Given the description of an element on the screen output the (x, y) to click on. 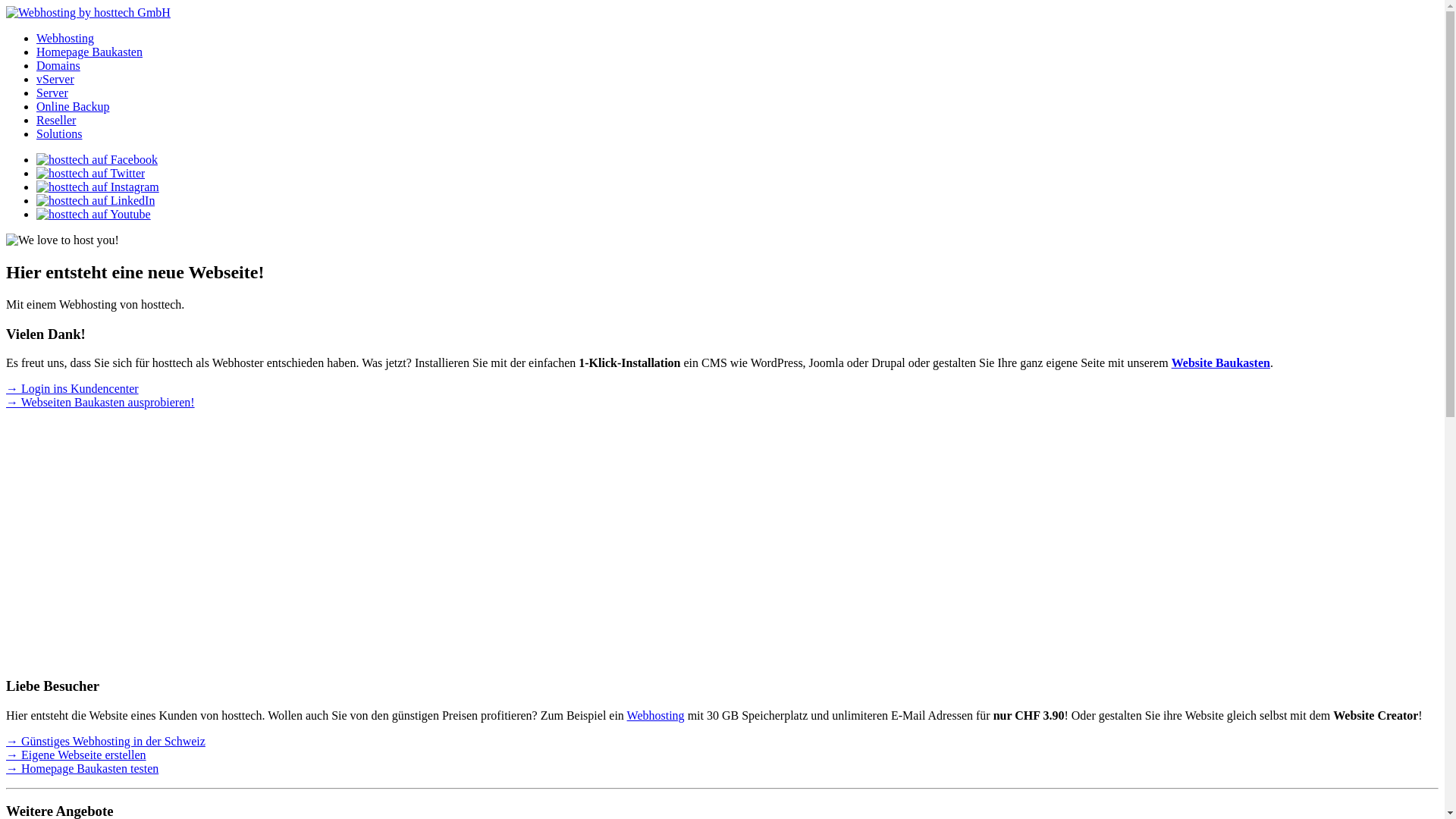
Website Baukasten Element type: text (1220, 362)
Online Backup Element type: text (72, 106)
Server Element type: text (52, 92)
Homepage Baukasten Element type: text (89, 51)
Webhosting Element type: text (655, 715)
Solutions Element type: text (58, 133)
vServer Element type: text (55, 78)
Webhosting Element type: text (65, 37)
Reseller Element type: text (55, 119)
Domains Element type: text (58, 65)
